Given the description of an element on the screen output the (x, y) to click on. 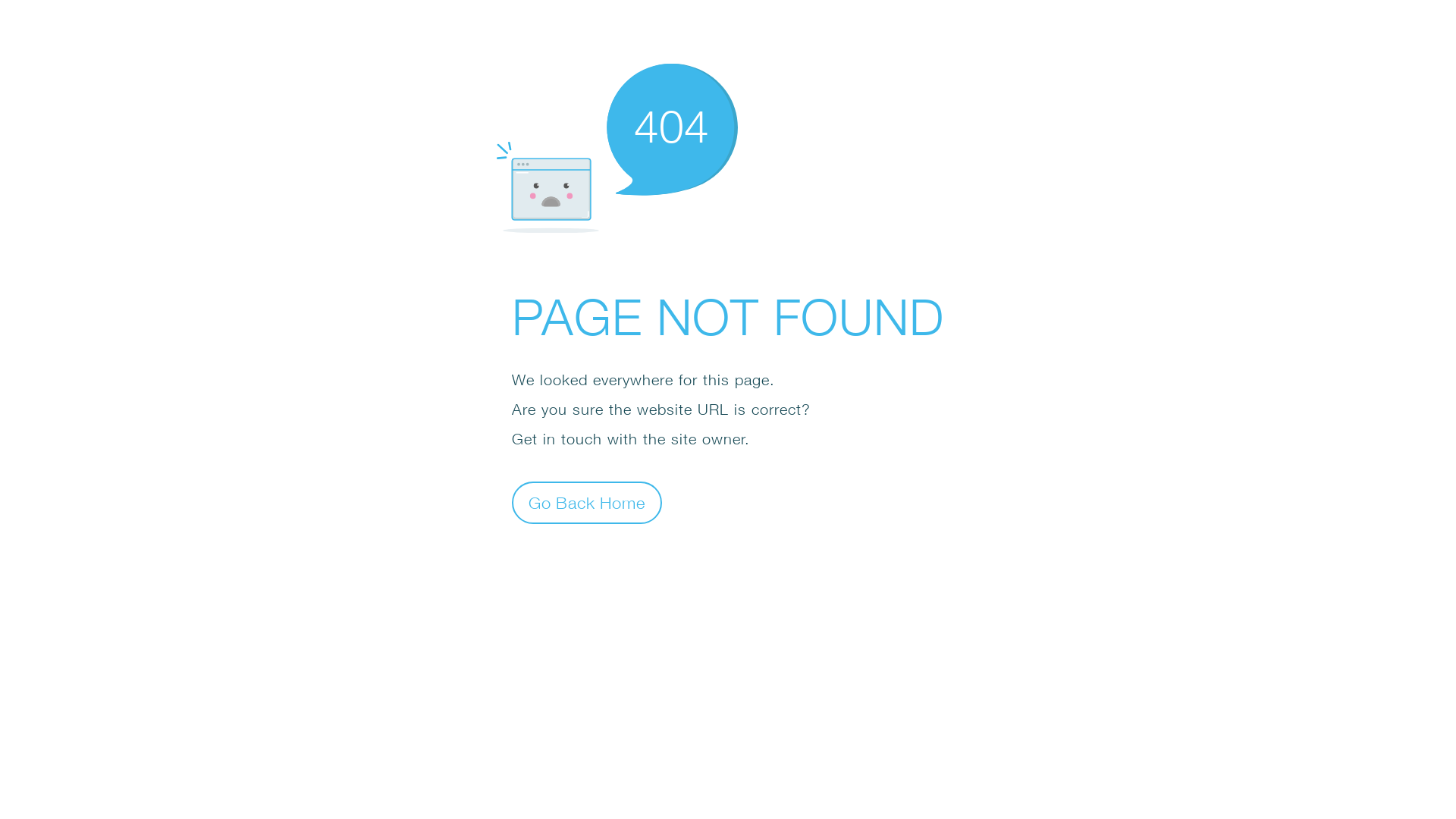
Go Back Home Element type: text (586, 502)
